Given the description of an element on the screen output the (x, y) to click on. 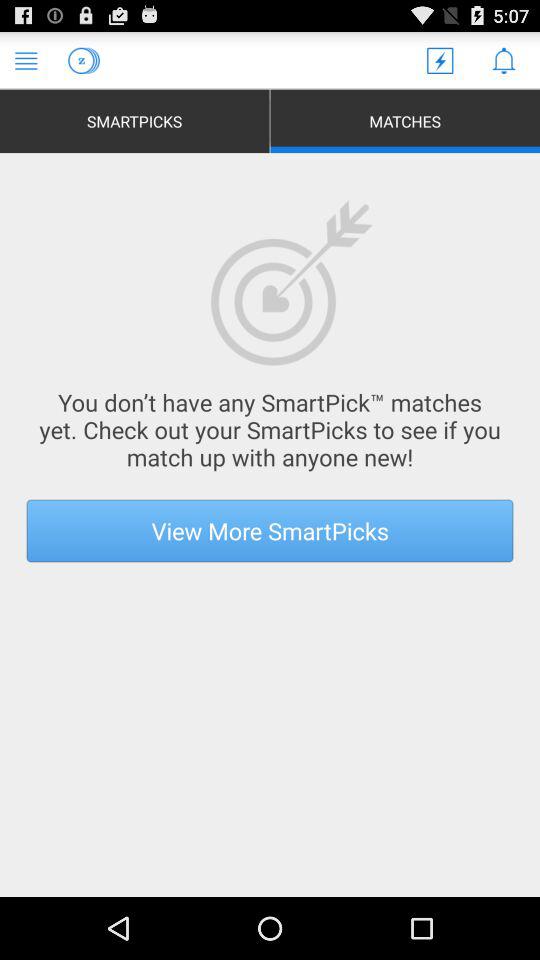
show options (26, 60)
